Given the description of an element on the screen output the (x, y) to click on. 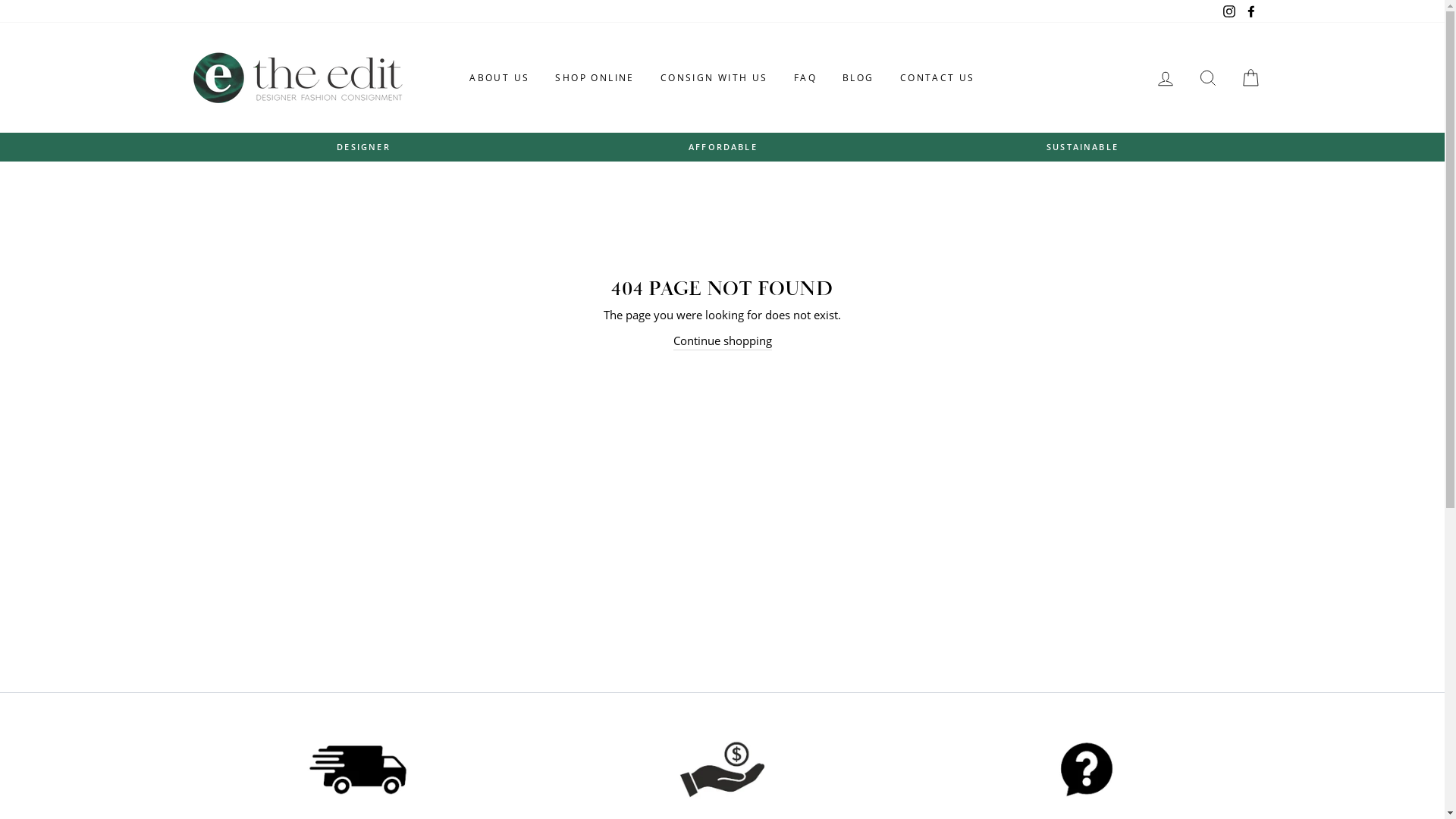
BLOG Element type: text (858, 78)
ABOUT US Element type: text (499, 78)
SHOP ONLINE Element type: text (594, 78)
Instagram Element type: text (1229, 11)
CONTACT US Element type: text (937, 78)
Facebook Element type: text (1250, 11)
CONSIGN WITH US Element type: text (714, 78)
SEARCH Element type: text (1206, 77)
CART Element type: text (1249, 77)
Skip to content Element type: text (0, 0)
Continue shopping Element type: text (722, 340)
LOG IN Element type: text (1164, 77)
FAQ Element type: text (805, 78)
